Given the description of an element on the screen output the (x, y) to click on. 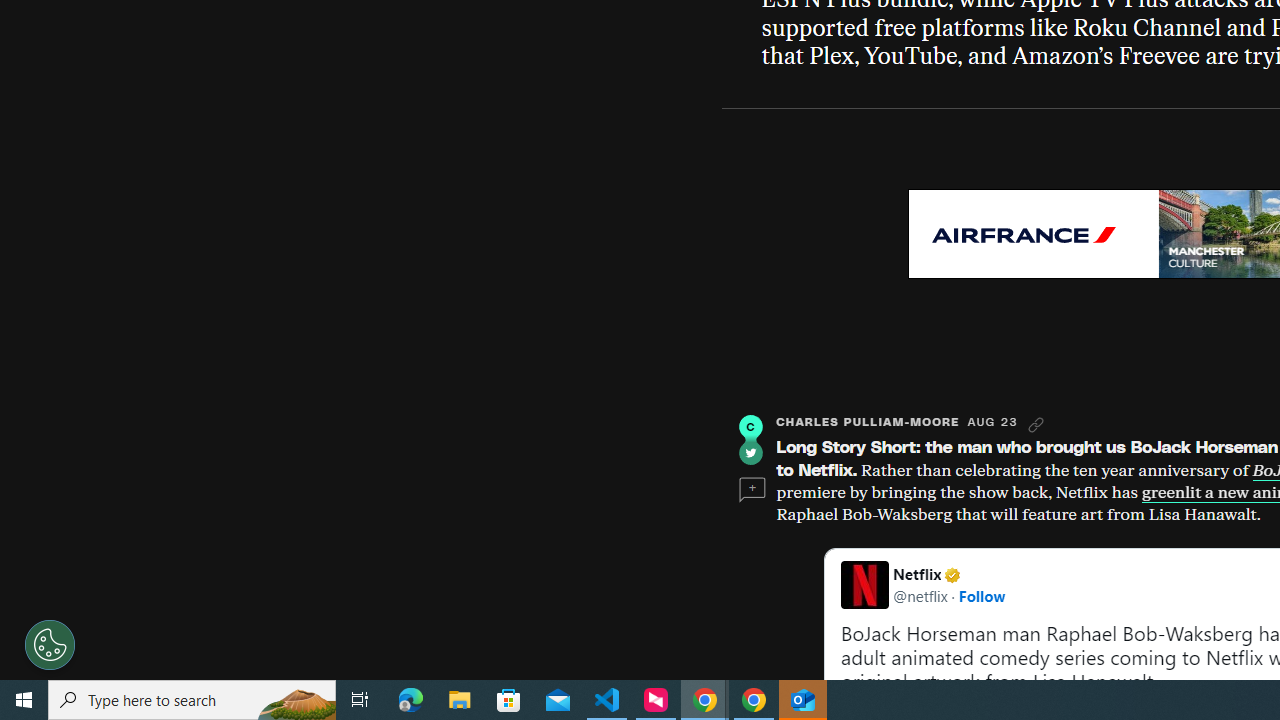
AUG 23 (992, 421)
Follow (981, 595)
Twitter (749, 452)
Open Preferences (50, 644)
Comments (751, 490)
Verified account (952, 574)
Link (1036, 425)
@netflix (920, 595)
Copy link (1036, 425)
Netflix Verified account (949, 574)
CHARLES PULLIAM-MOORE (867, 421)
